Given the description of an element on the screen output the (x, y) to click on. 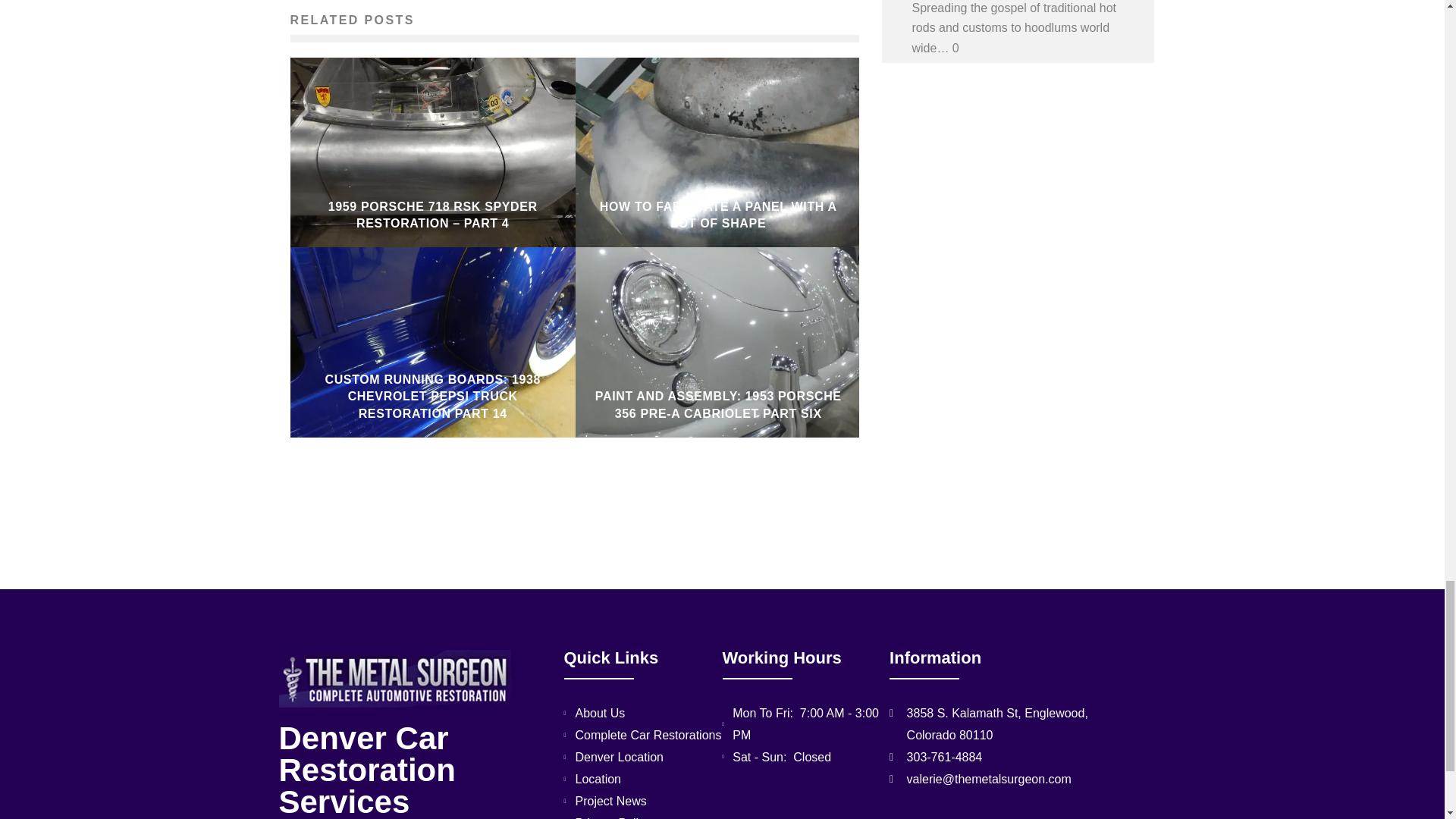
HOW TO FABRICATE A PANEL WITH A LOT OF SHAPE (718, 214)
